Given the description of an element on the screen output the (x, y) to click on. 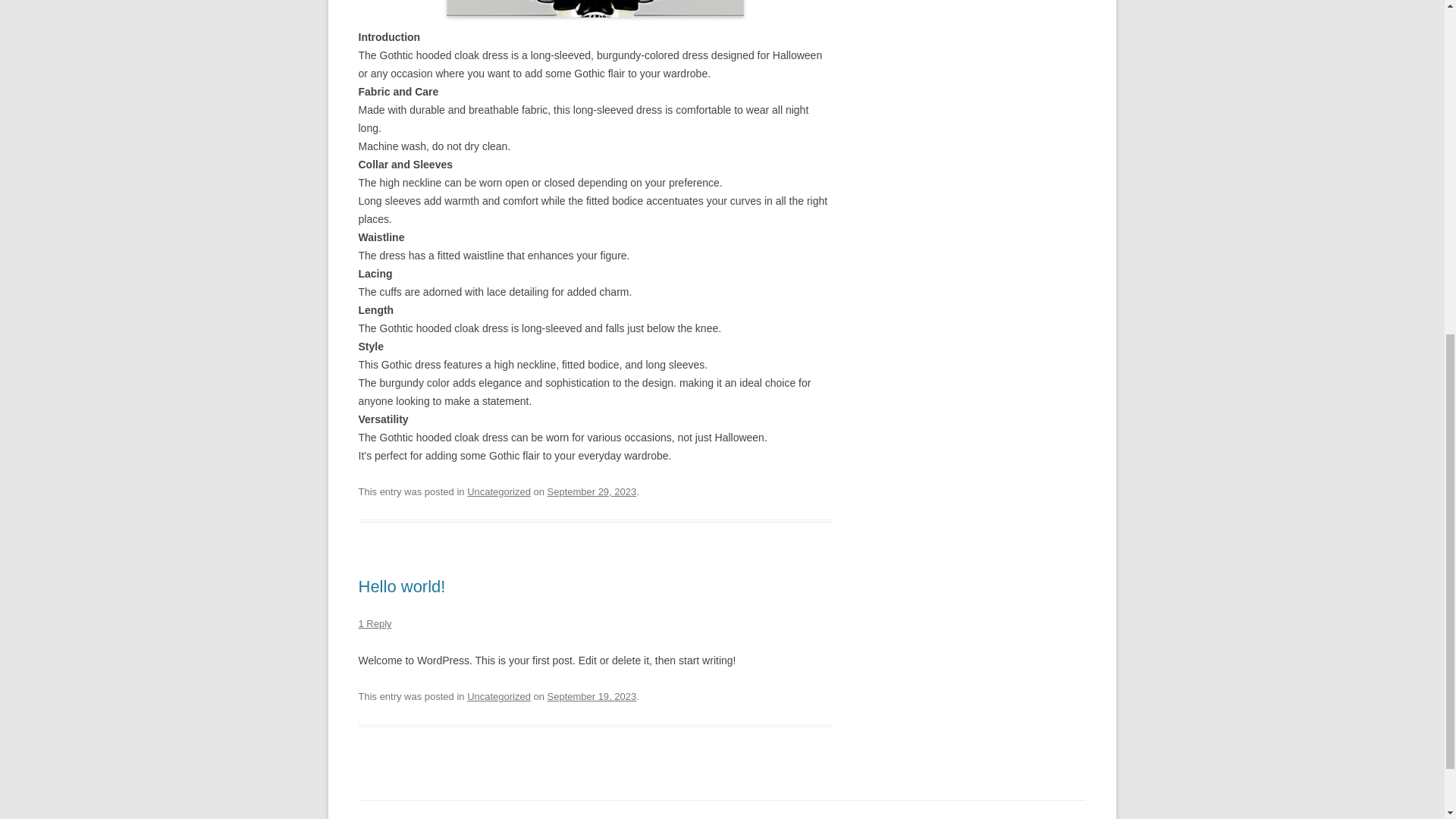
Hello world! (401, 586)
September 19, 2023 (592, 696)
1:22 am (592, 491)
Uncategorized (499, 696)
September 29, 2023 (592, 491)
7:27 am (592, 696)
1 Reply (374, 623)
Uncategorized (499, 491)
